Given the description of an element on the screen output the (x, y) to click on. 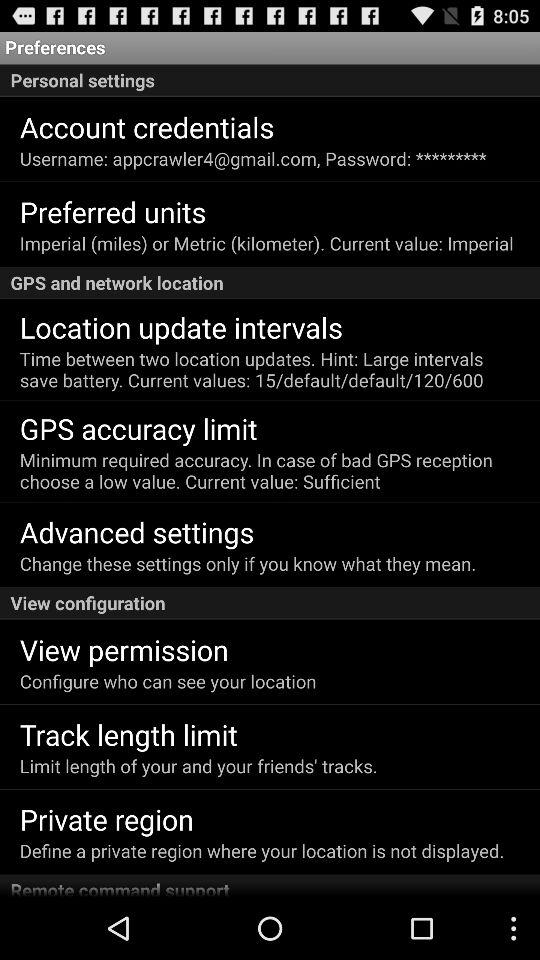
select icon below minimum required accuracy (136, 531)
